Given the description of an element on the screen output the (x, y) to click on. 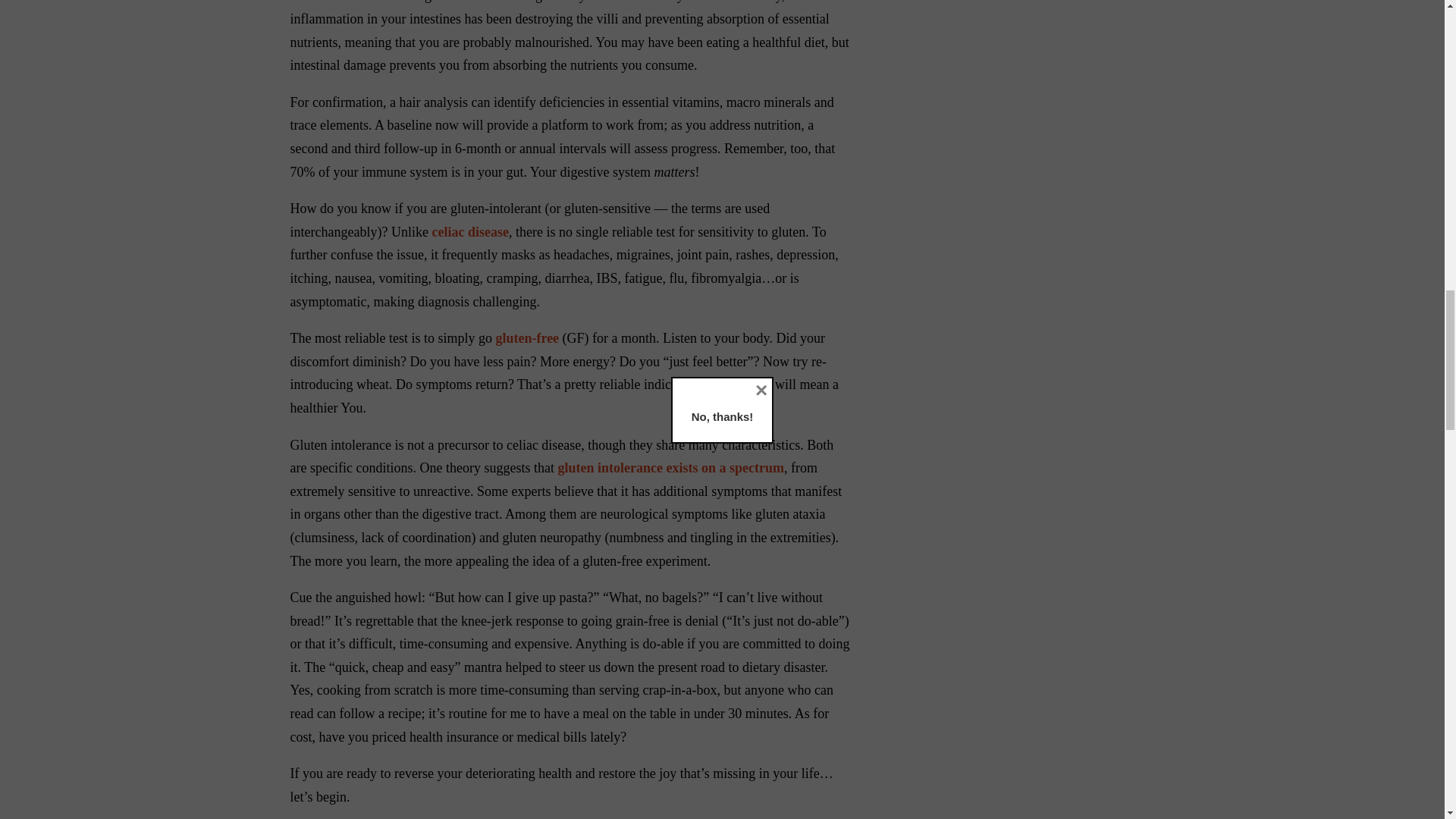
celiac disease (469, 231)
gluten-free (527, 337)
gluten intolerance exists on a spectrum (670, 467)
